Given the description of an element on the screen output the (x, y) to click on. 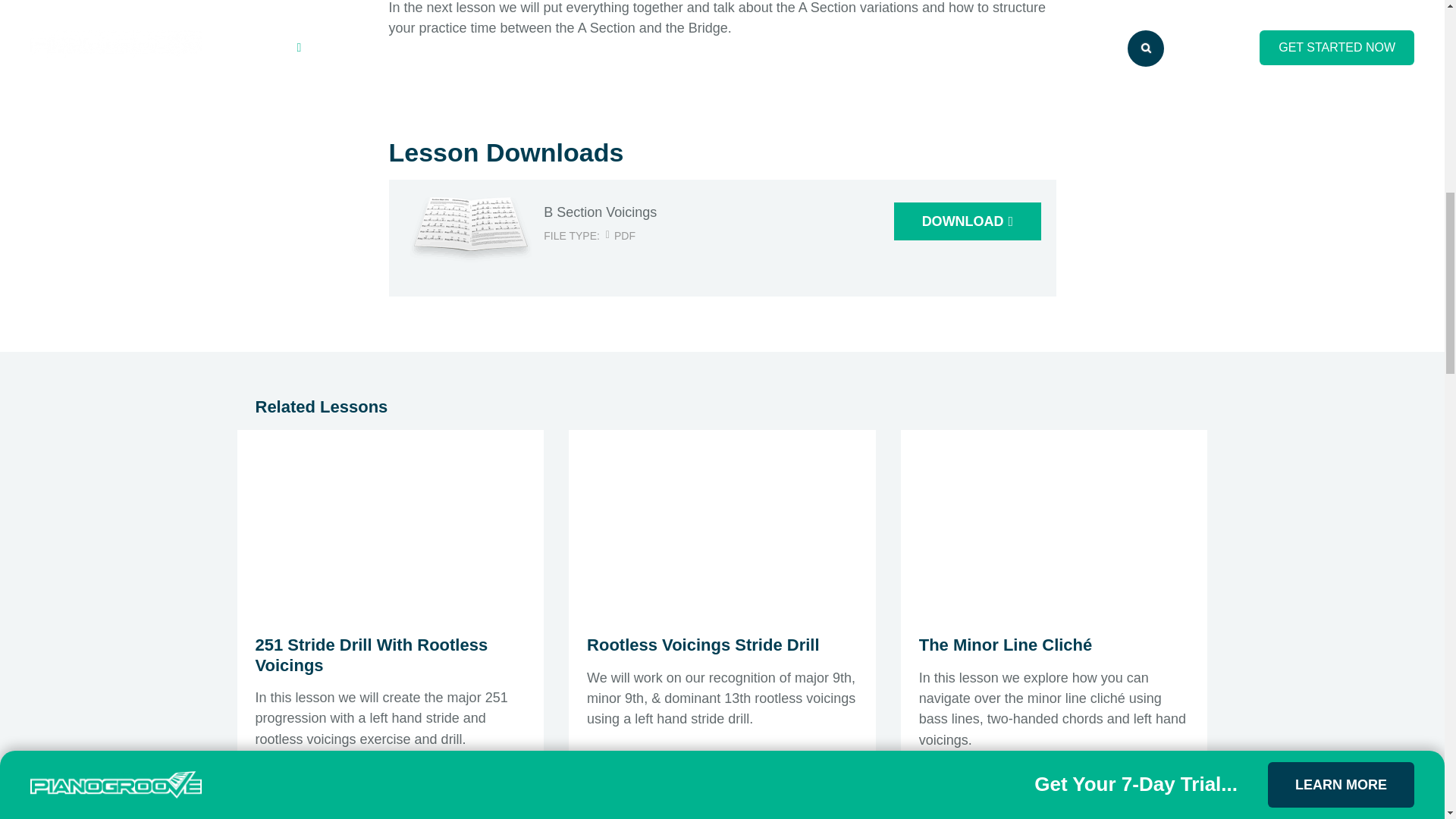
DOWNLOAD (967, 221)
Rootless Voicings Stride Drill (702, 644)
251 Stride Drill With Rootless Voicings (370, 654)
